Given the description of an element on the screen output the (x, y) to click on. 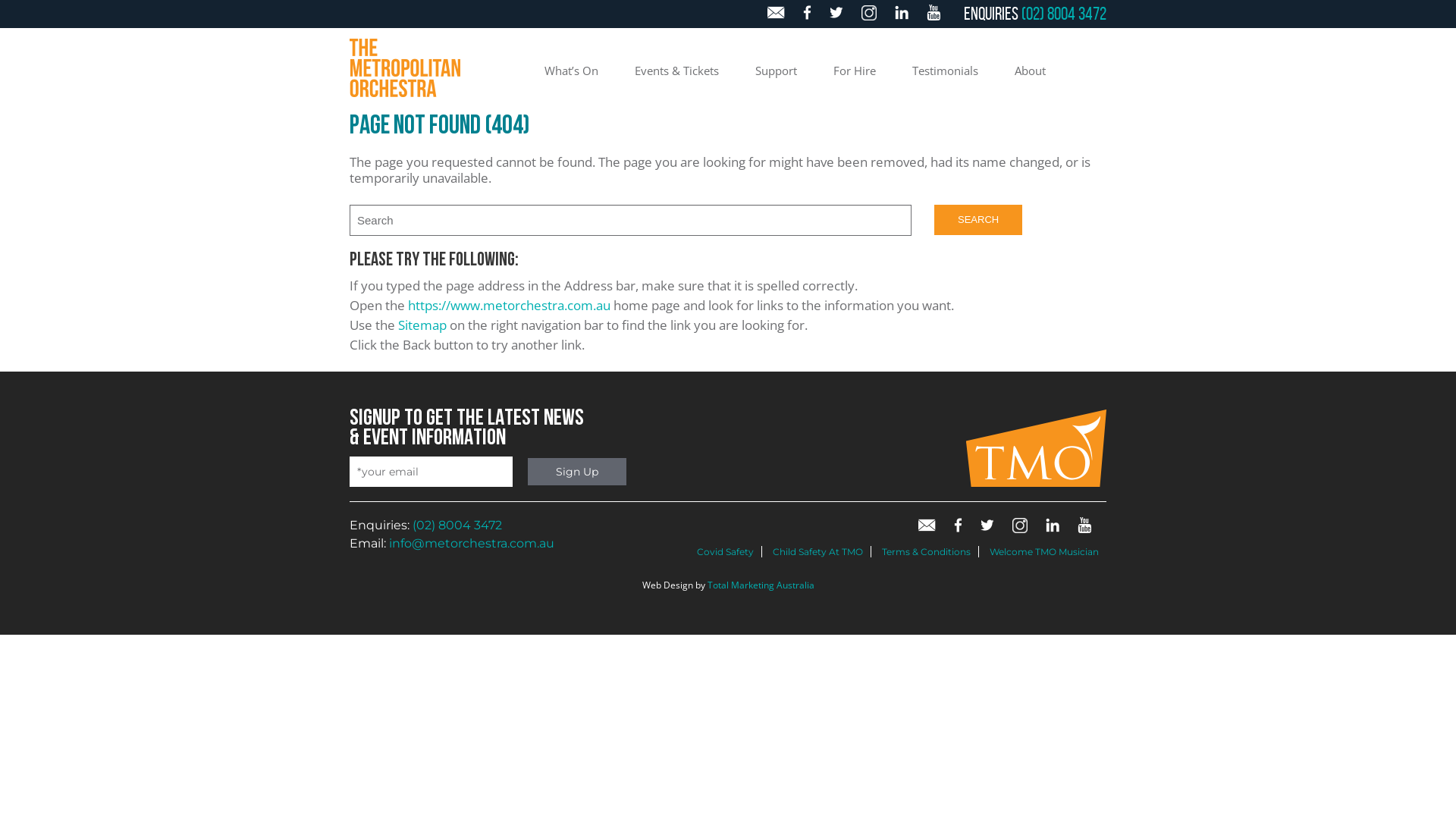
Events & Tickets Element type: text (676, 72)
Total Marketing Australia Element type: text (759, 584)
Testimonials Element type: text (945, 72)
Search Element type: text (978, 219)
(02) 8004 3472 Element type: text (457, 524)
https://www.metorchestra.com.au Element type: text (508, 304)
logo-text Element type: hover (404, 66)
Covid Safety Element type: text (724, 551)
Sign Up Element type: text (576, 471)
Welcome TMO Musician Element type: text (1043, 551)
Child Safety At TMO Element type: text (817, 551)
(02) 8004 3472 Element type: text (1063, 13)
About Element type: text (1029, 72)
Terms & Conditions Element type: text (925, 551)
info@metorchestra.com.au Element type: text (471, 543)
Sitemap Element type: text (422, 324)
Support Element type: text (776, 72)
For Hire Element type: text (854, 72)
footer-logo Element type: hover (1036, 481)
